Given the description of an element on the screen output the (x, y) to click on. 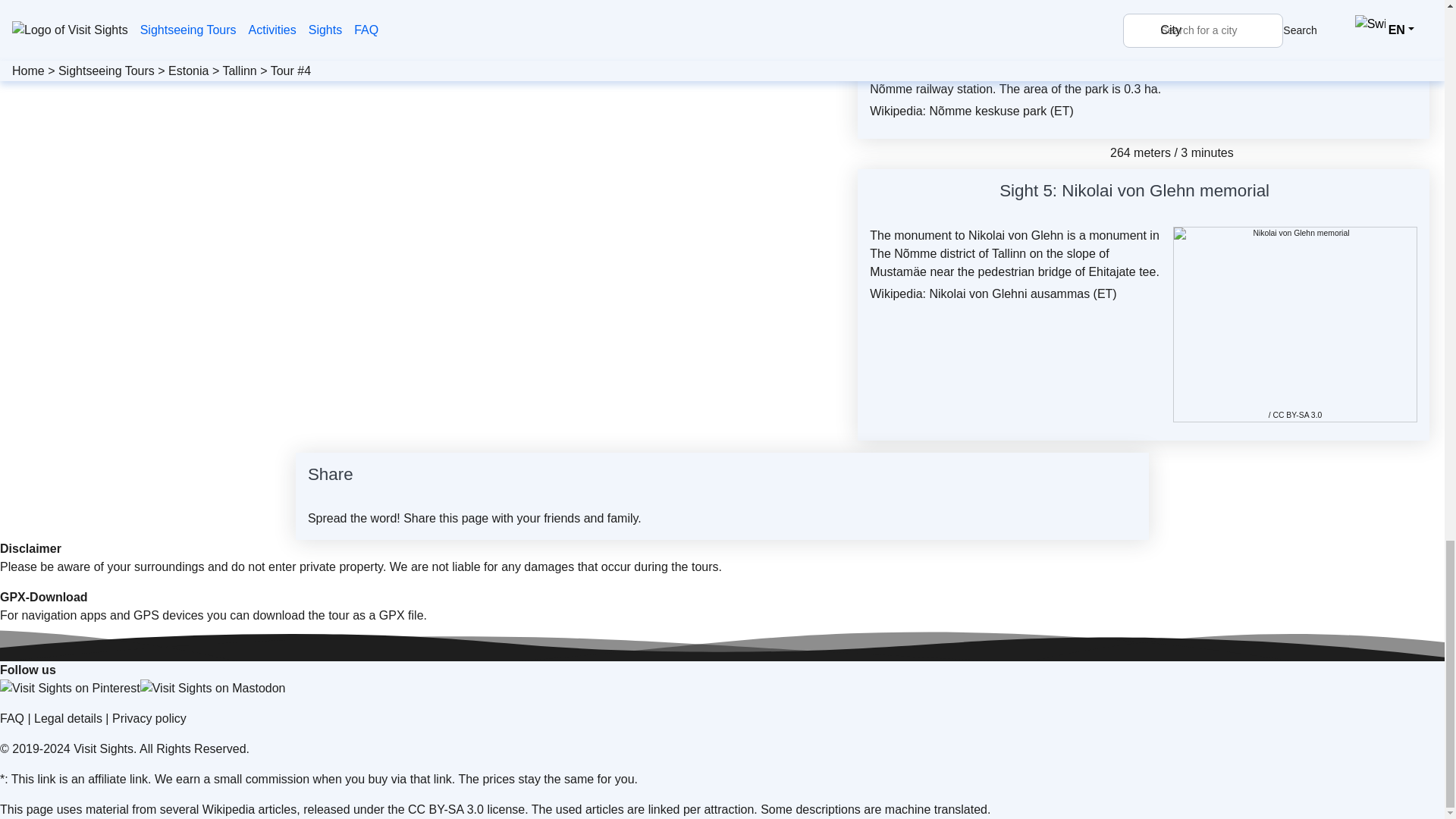
Show sight on map (1256, 28)
Show sight on map (1278, 193)
CC BY-SA 3.0 (1297, 415)
Visit Sights on Mastodon (212, 688)
Visit Sights on Pinterest (69, 688)
download the tour as a GPX file (338, 615)
